Given the description of an element on the screen output the (x, y) to click on. 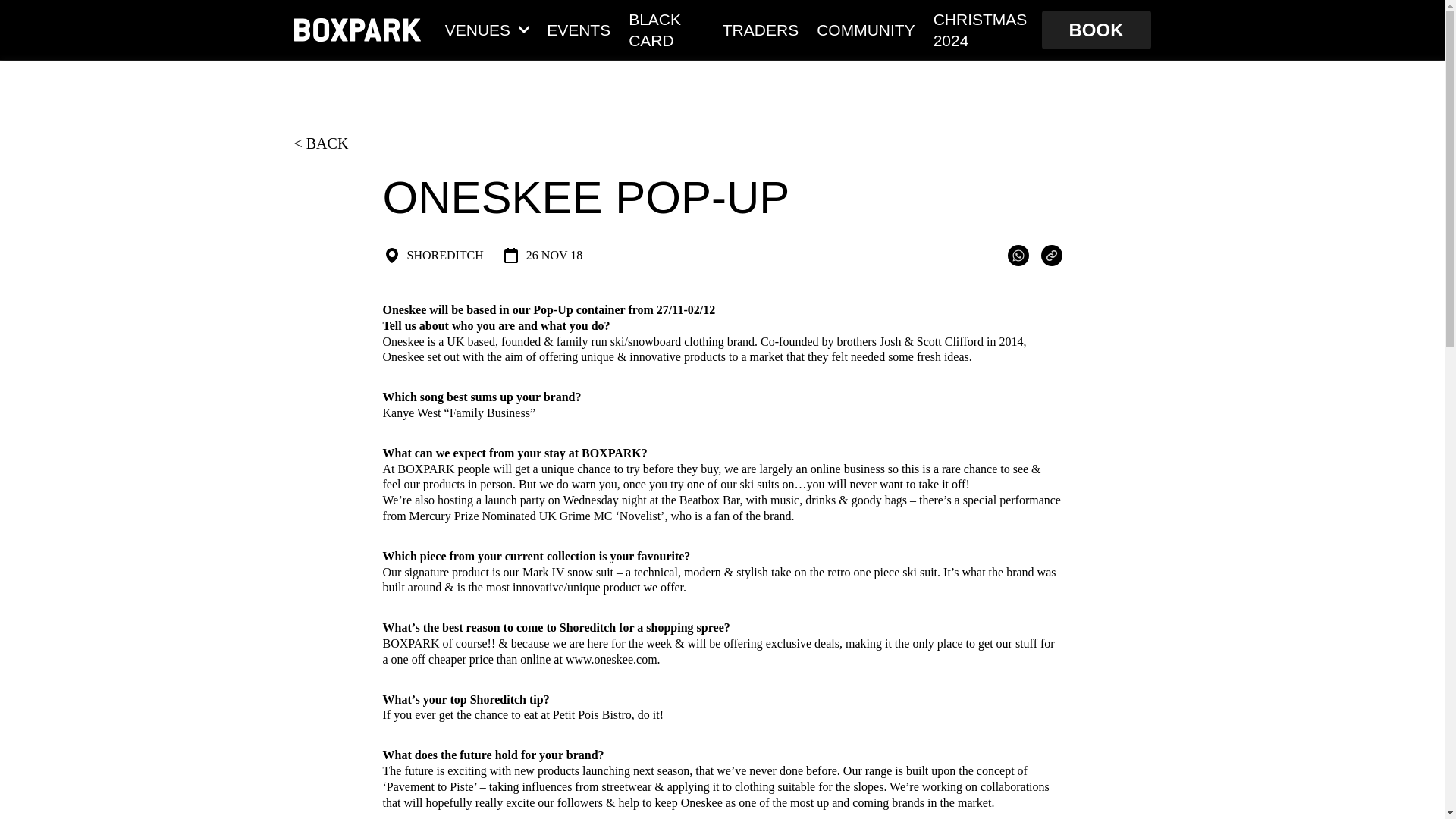
CHRISTMAS 2024 (982, 29)
BLACK CARD (666, 29)
EVENTS (578, 29)
VENUES (486, 29)
TRADERS (759, 29)
COMMUNITY (865, 29)
